Given the description of an element on the screen output the (x, y) to click on. 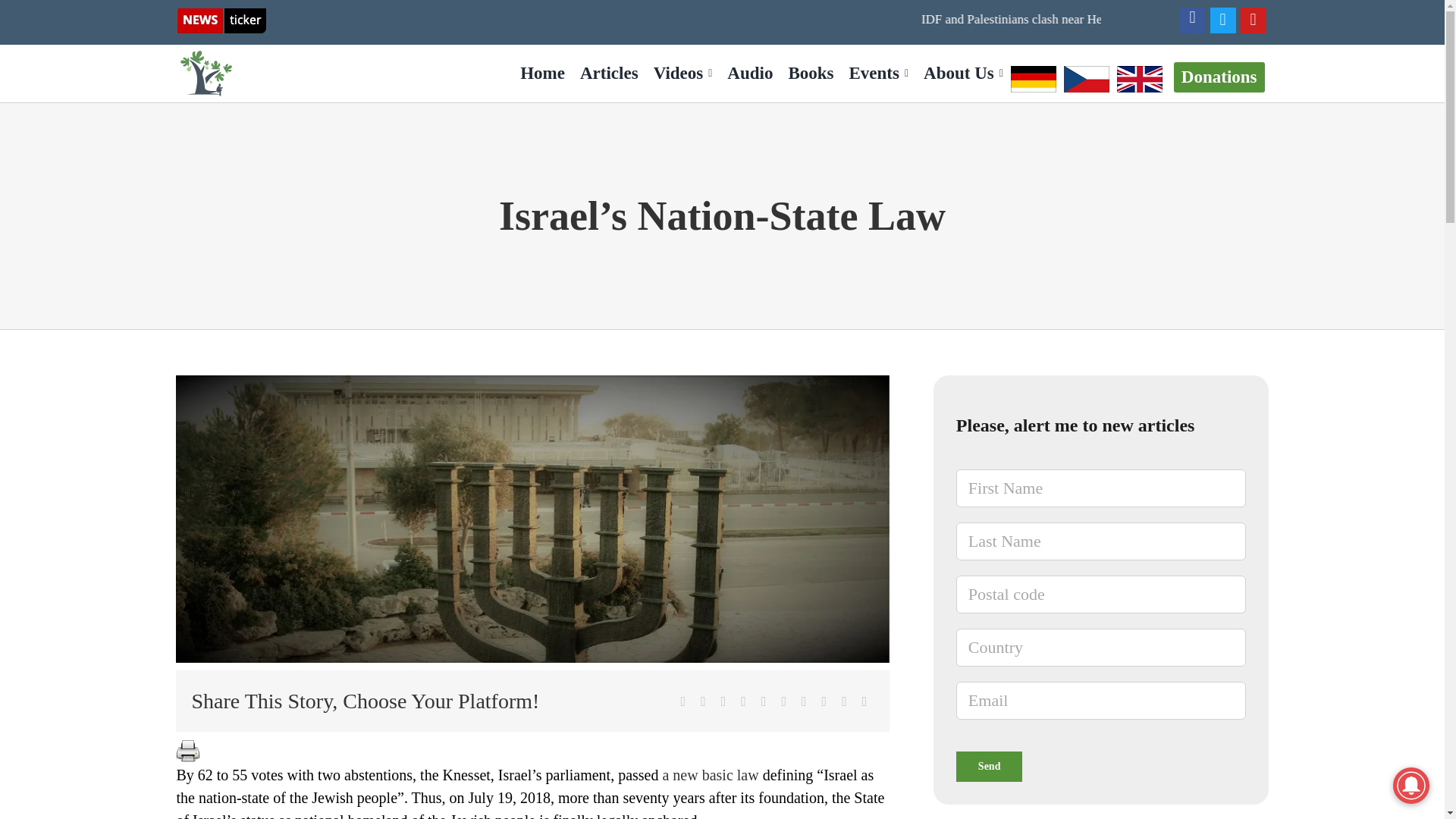
Send (989, 766)
Home (542, 72)
